Given the description of an element on the screen output the (x, y) to click on. 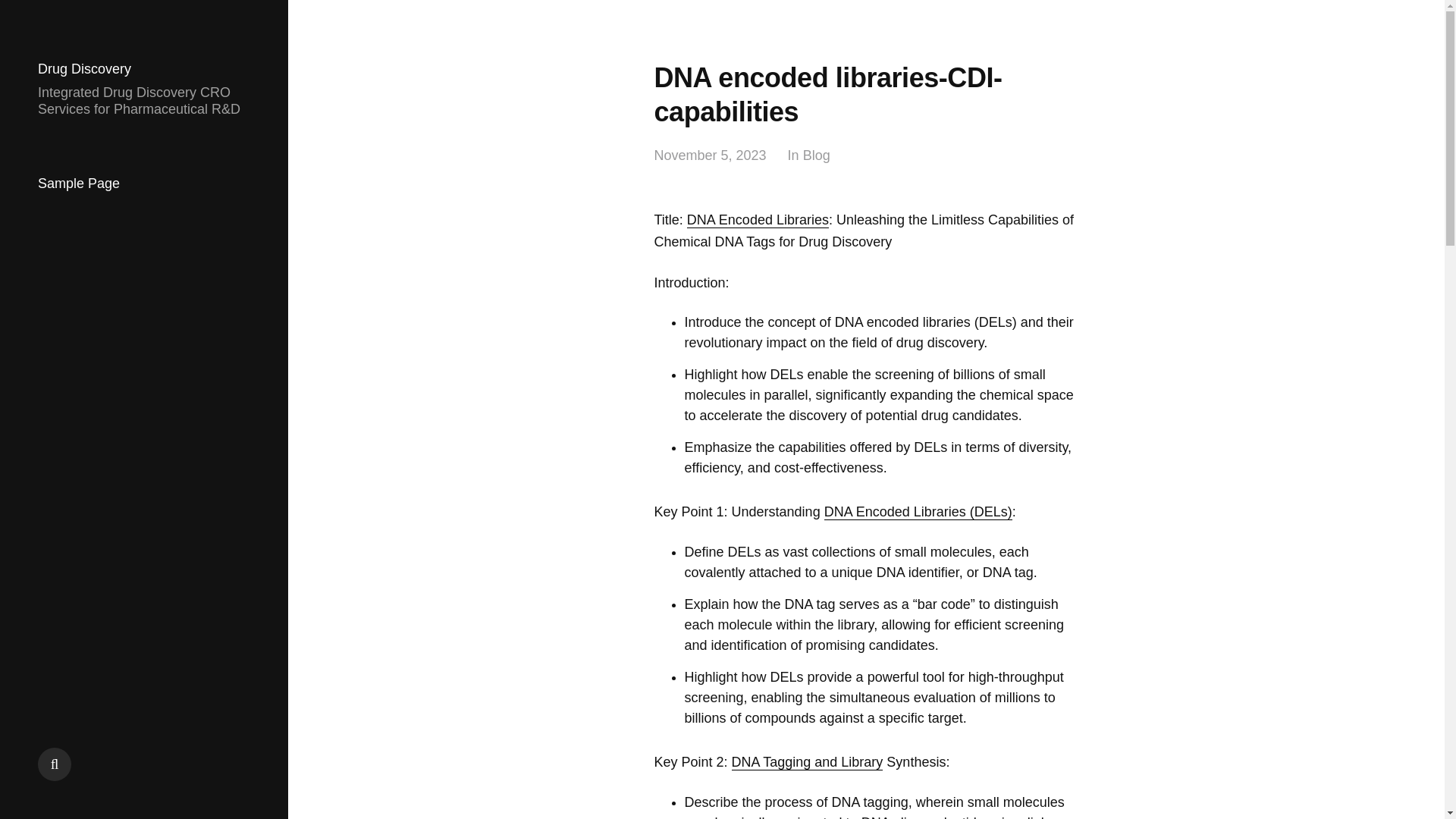
Sample Page (78, 183)
DNA Tagging and Library (807, 762)
DNA Encoded Libraries (757, 220)
Blog (816, 155)
Drug Discovery (84, 68)
November 5, 2023 (709, 155)
